Given the description of an element on the screen output the (x, y) to click on. 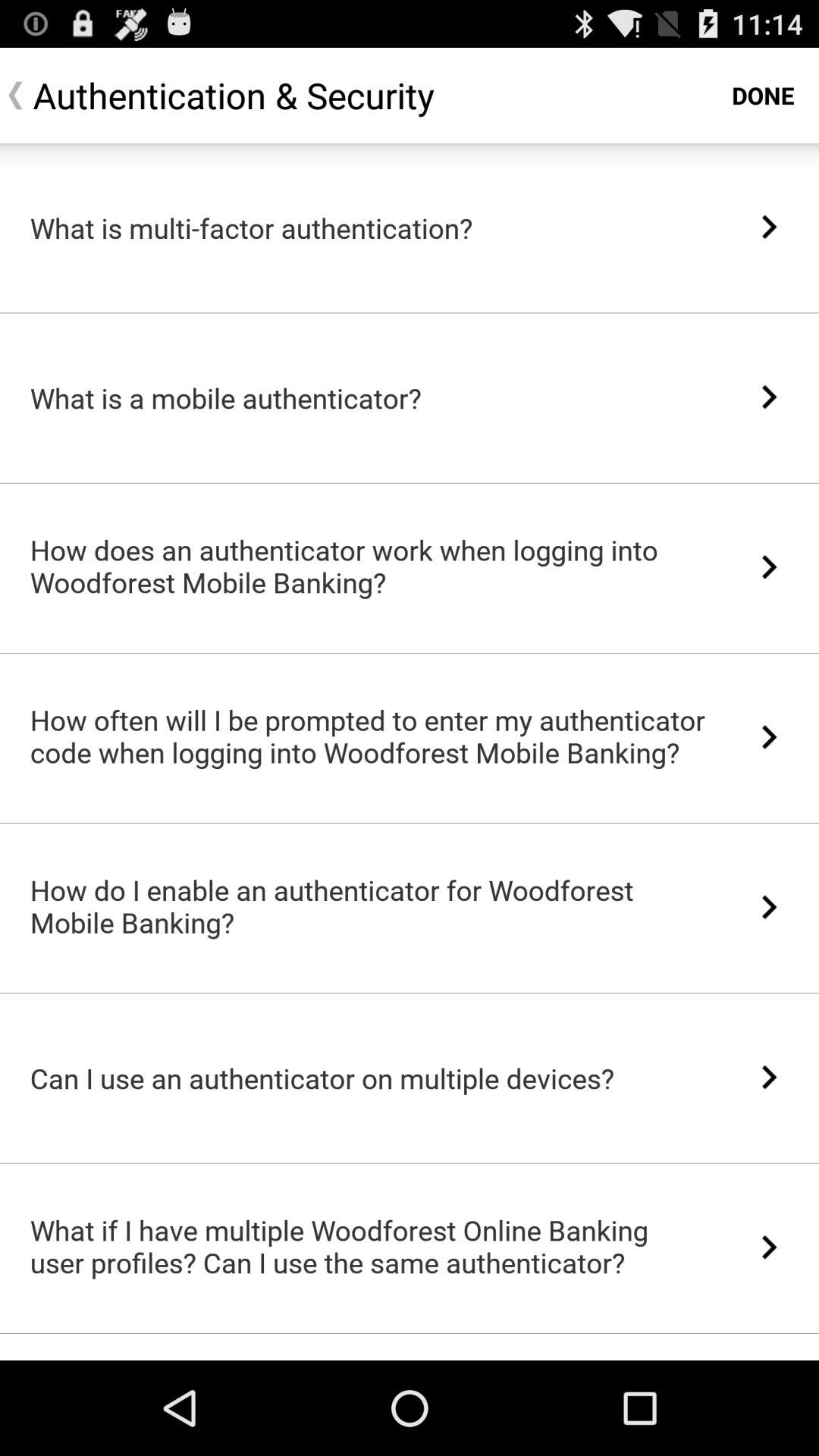
scroll to what if i item (368, 1246)
